Given the description of an element on the screen output the (x, y) to click on. 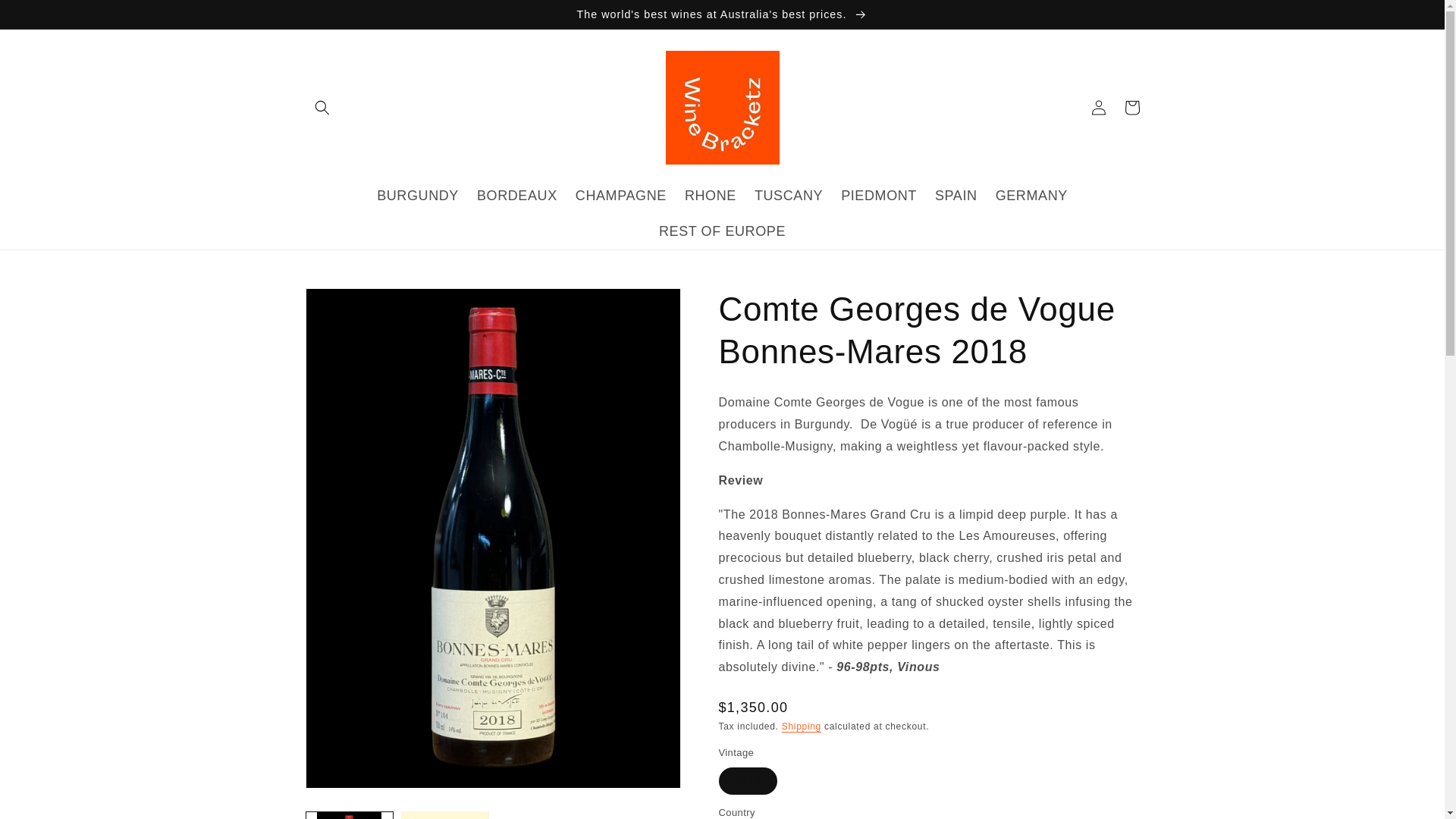
TUSCANY (788, 195)
REST OF EUROPE (721, 231)
Skip to content (45, 16)
BORDEAUX (516, 195)
CHAMPAGNE (620, 195)
PIEDMONT (878, 195)
GERMANY (1032, 195)
Skip to product information (350, 304)
Cart (1131, 107)
